Given the description of an element on the screen output the (x, y) to click on. 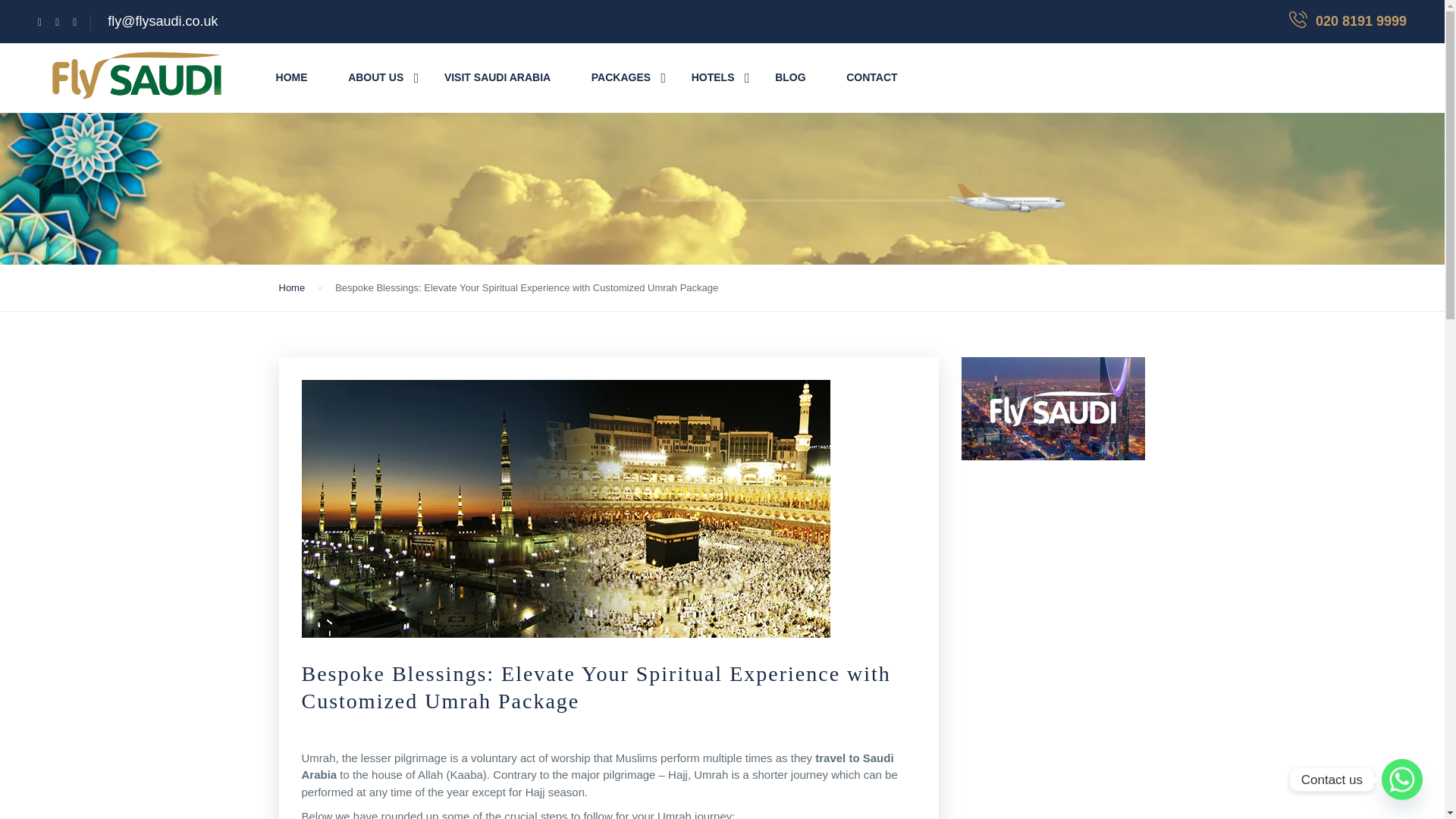
Home (292, 287)
ABOUT US (375, 77)
020 8191 9999 (1361, 20)
BLOG (789, 77)
PACKAGES (620, 77)
HOME (291, 77)
CONTACT (871, 77)
VISIT SAUDI ARABIA (497, 77)
HOTELS (713, 77)
